Given the description of an element on the screen output the (x, y) to click on. 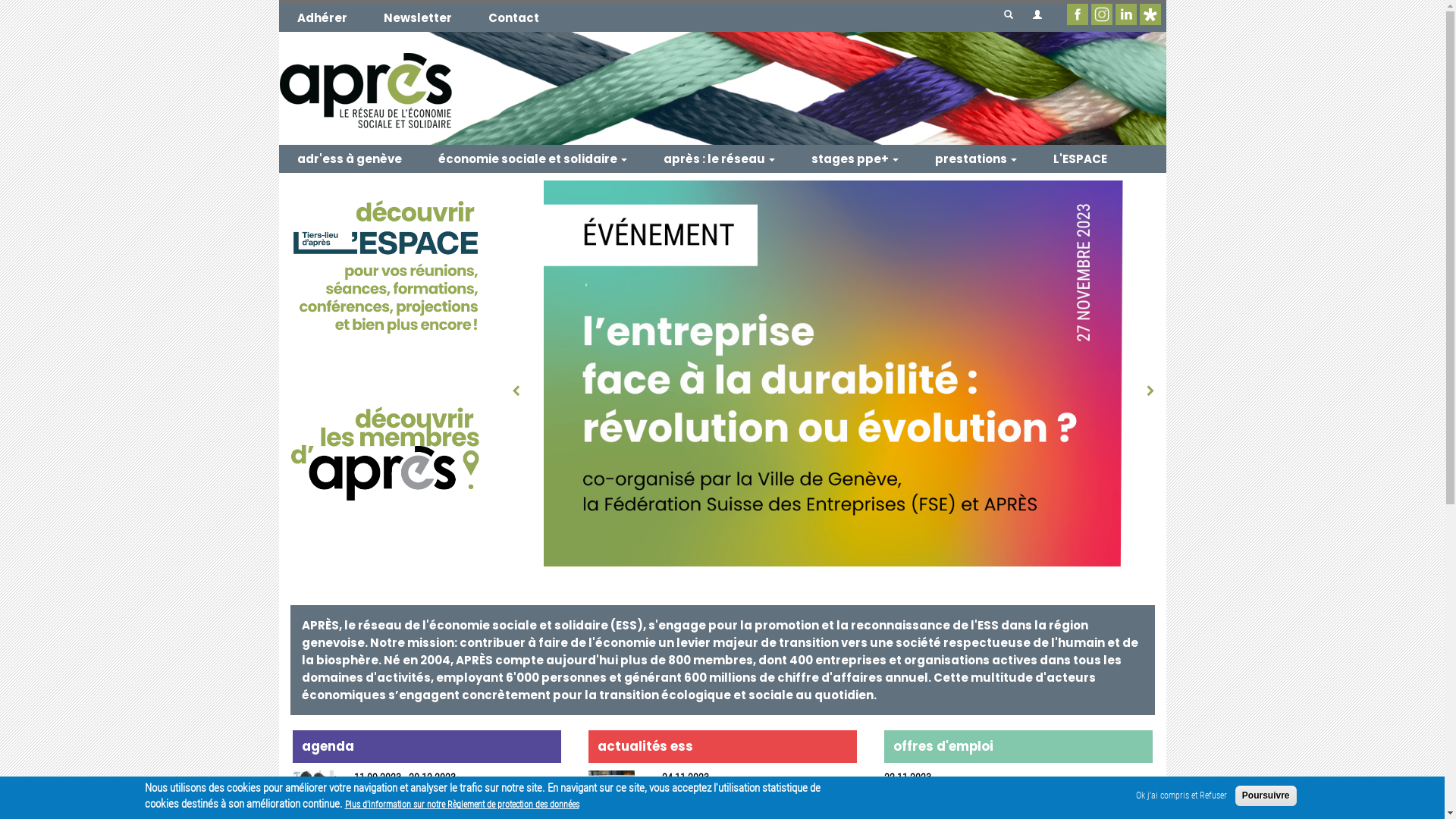
Next Element type: text (1141, 384)
Aller au contenu principal Element type: text (279, 0)
Previous Element type: text (523, 384)
prestations Element type: text (975, 158)
Poursuivre Element type: text (1265, 795)
stages ppe+ Element type: text (854, 158)
Contact Element type: text (513, 17)
Ok j'ai compris et Refuser Element type: text (1181, 795)
Newsletter Element type: text (417, 17)
offres d'emploi Element type: text (781, 621)
agenda Element type: text (268, 621)
Accueil Element type: hover (722, 87)
L'ESPACE Element type: text (1079, 158)
